Given the description of an element on the screen output the (x, y) to click on. 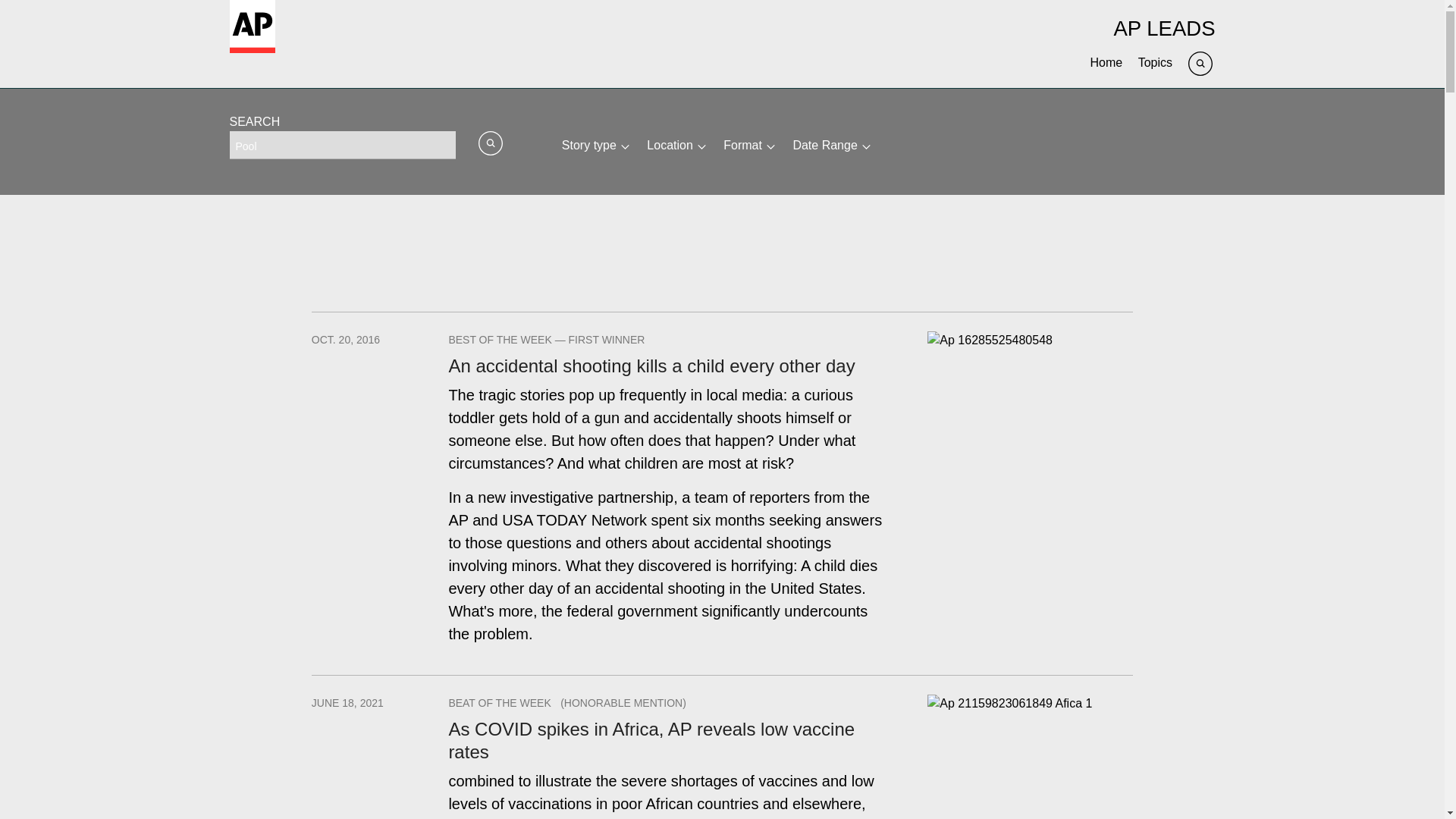
Pool (341, 144)
Search (1201, 62)
Topics (1155, 62)
AP LEADS (1163, 28)
Pool (341, 144)
Home (1106, 62)
